Given the description of an element on the screen output the (x, y) to click on. 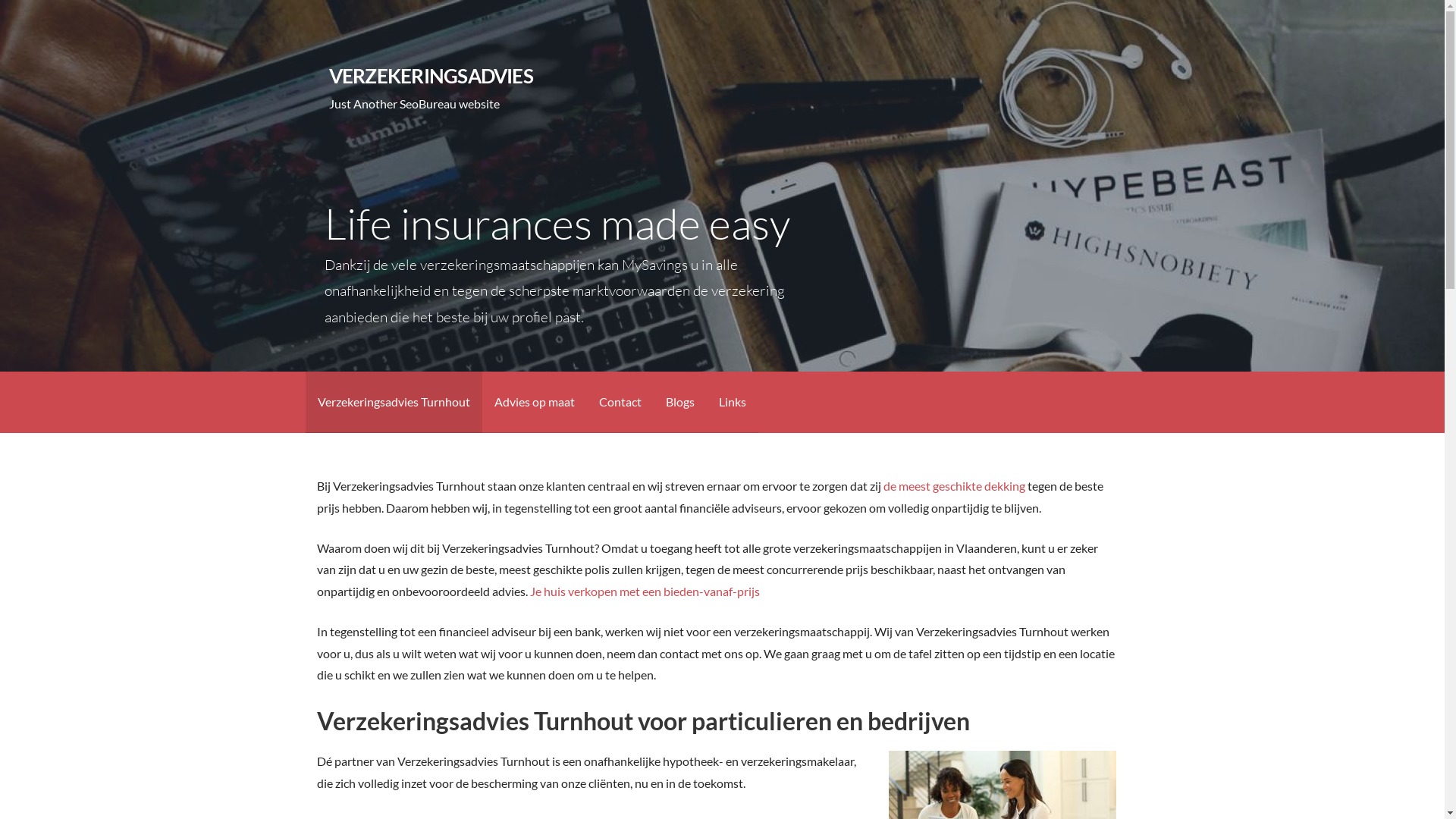
VERZEKERINGSADVIES Element type: text (431, 75)
de meest geschikte dekking Element type: text (954, 485)
Contact Element type: text (619, 402)
Verzekeringsadvies Turnhout Element type: text (392, 402)
Je huis verkopen met een bieden-vanaf-prijs Element type: text (644, 590)
Blogs Element type: text (679, 402)
Advies op maat Element type: text (534, 402)
Links Element type: text (732, 402)
